Given the description of an element on the screen output the (x, y) to click on. 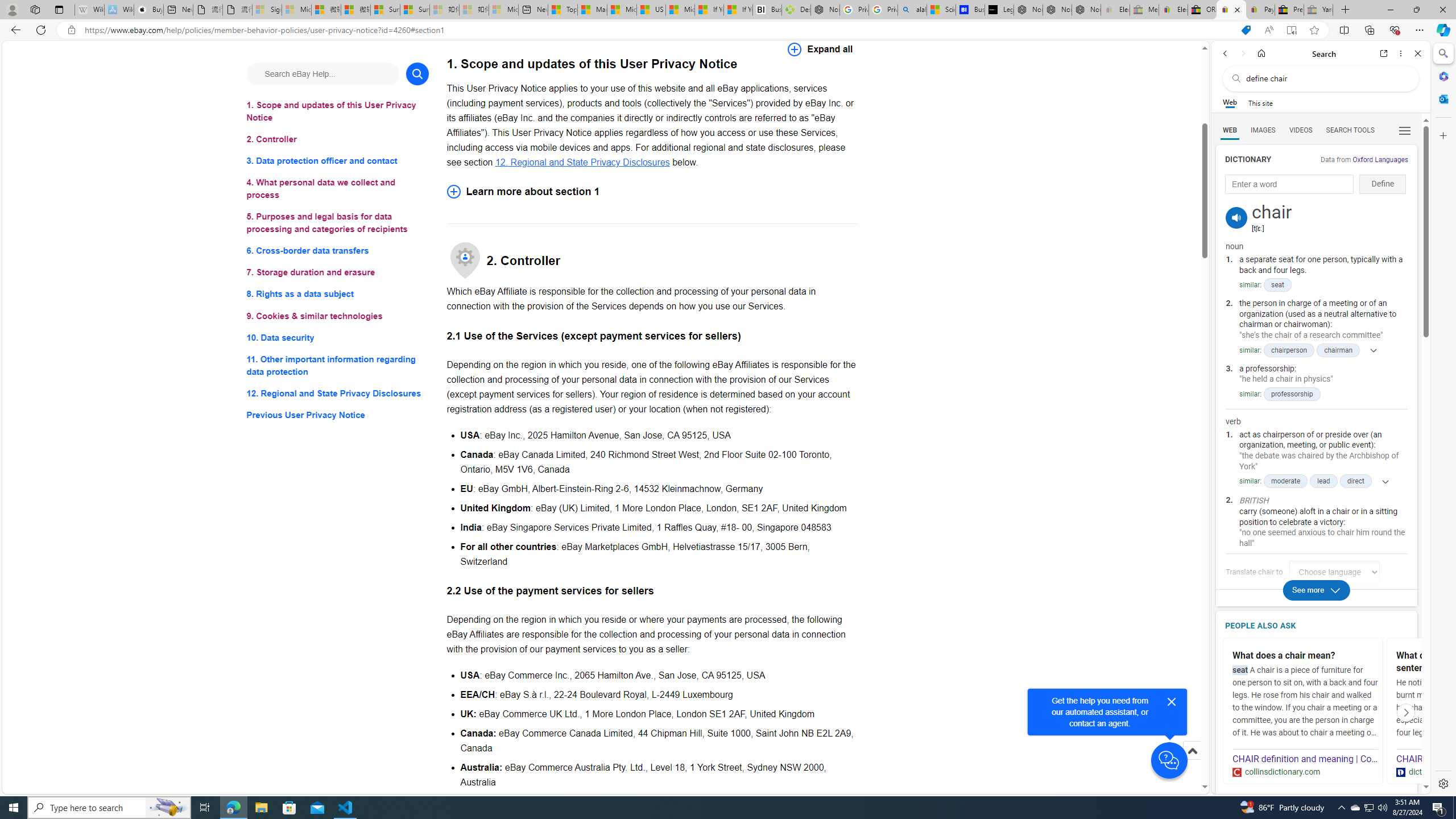
professorship (1291, 393)
Microsoft Services Agreement - Sleeping (295, 9)
8. Rights as a data subject (337, 293)
7. Storage duration and erasure (337, 272)
4. What personal data we collect and process (337, 189)
Microsoft account | Account Checkup - Sleeping (502, 9)
3. Data protection officer and contact (337, 160)
